Given the description of an element on the screen output the (x, y) to click on. 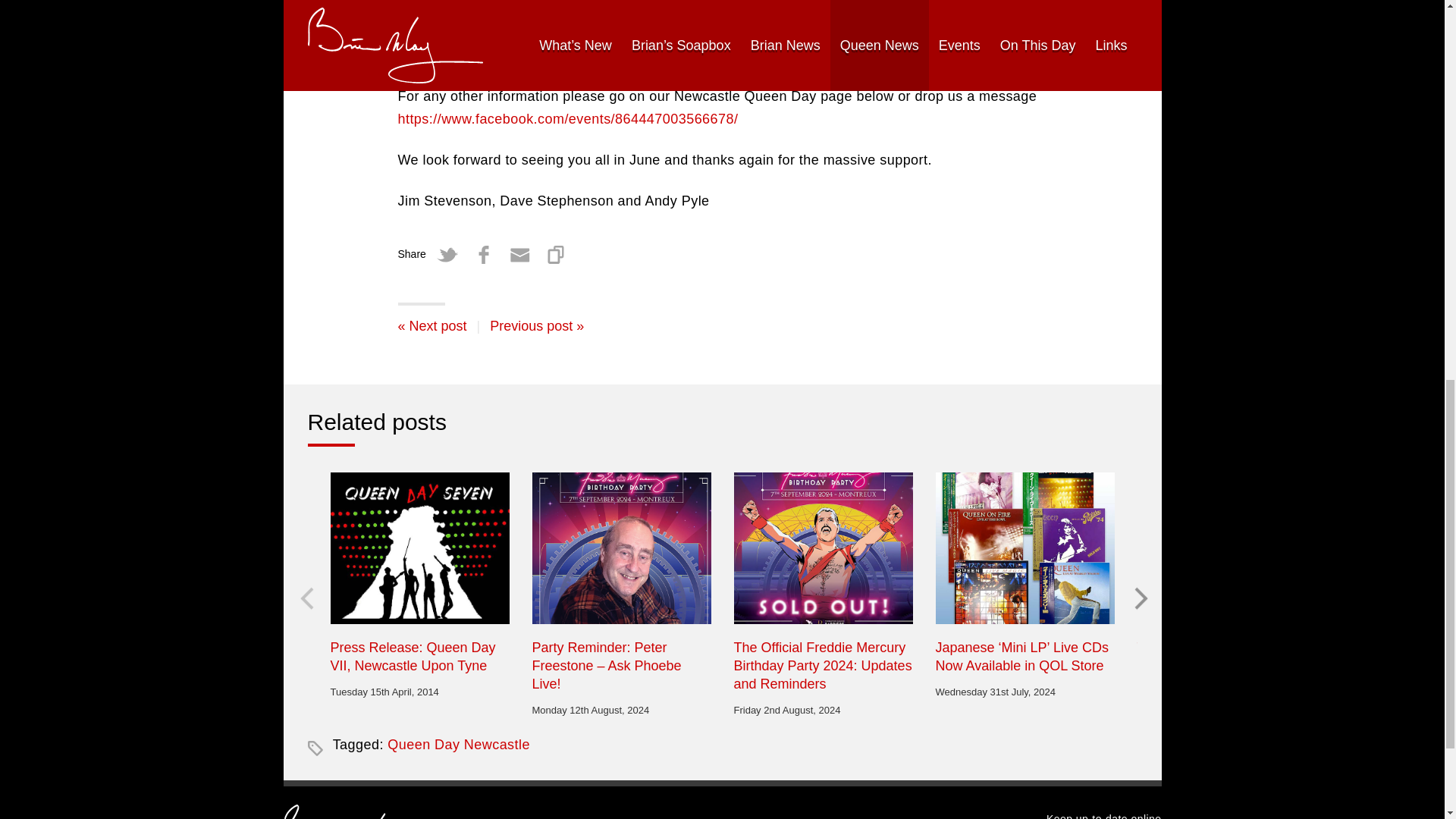
Bo Rhap features in the "10 Songs Nobody Understands" (431, 325)
brianmay.com (364, 811)
Cruise Musicals: Drama on the High Seas (536, 325)
